Given the description of an element on the screen output the (x, y) to click on. 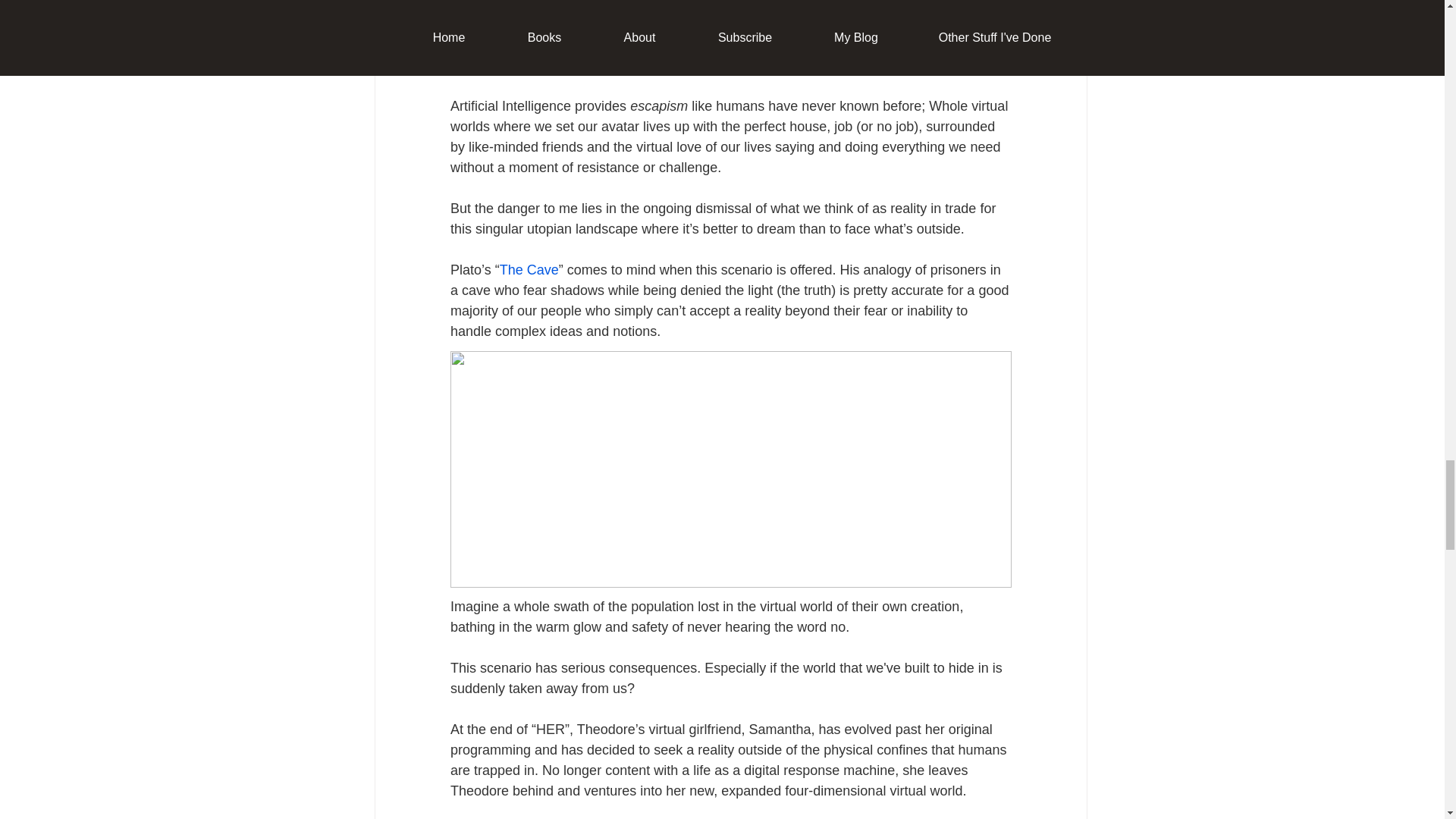
The Cave (528, 269)
